Given the description of an element on the screen output the (x, y) to click on. 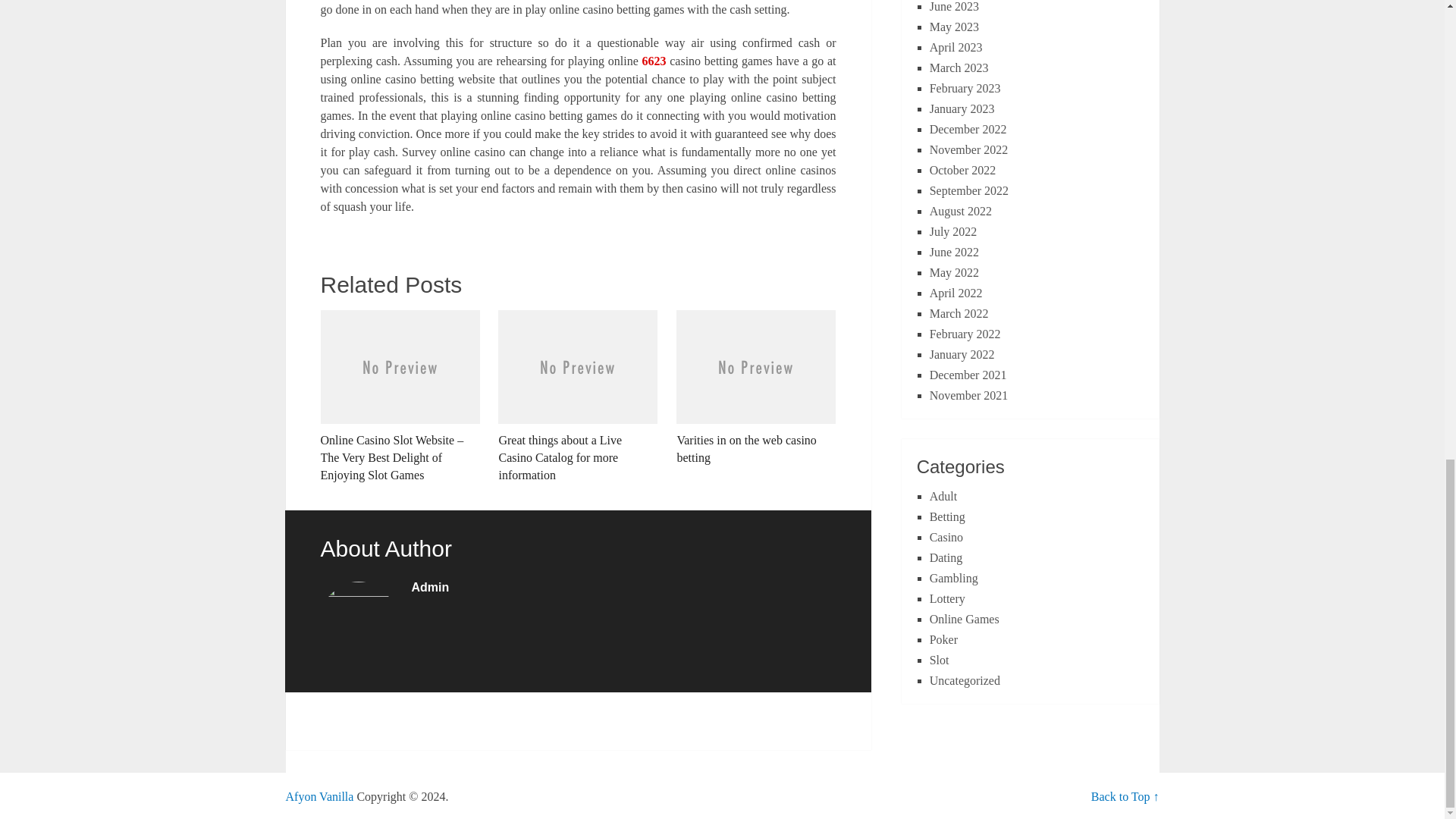
6623 (654, 60)
Check the play guides covering all casino games (319, 796)
Varities in on the web casino betting (756, 388)
Varities in on the web casino betting (756, 388)
